Given the description of an element on the screen output the (x, y) to click on. 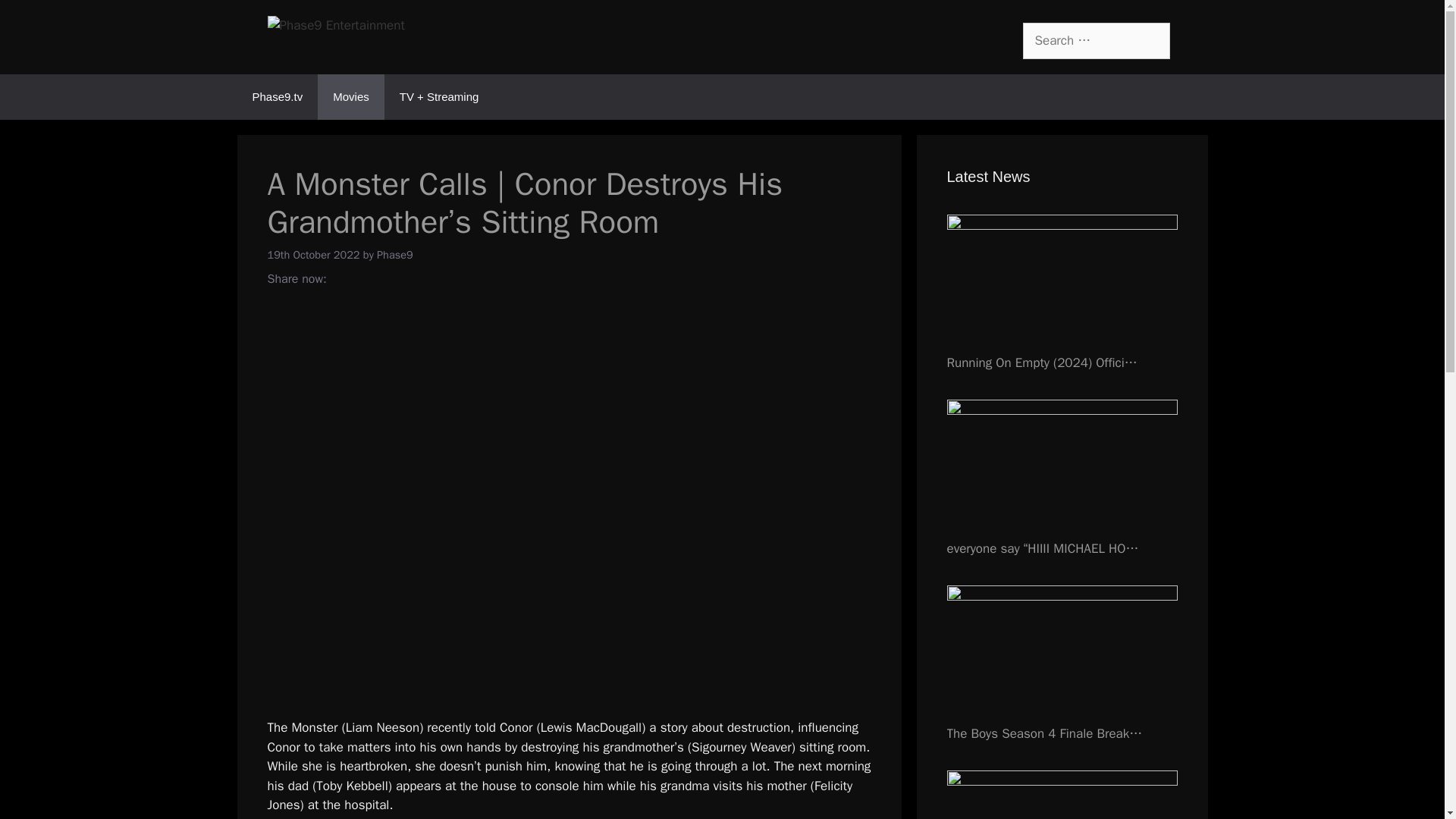
Phase9 (395, 254)
Search for: (1095, 40)
Phase9.tv (276, 96)
View all posts by Phase9 (395, 254)
Movies (350, 96)
